Given the description of an element on the screen output the (x, y) to click on. 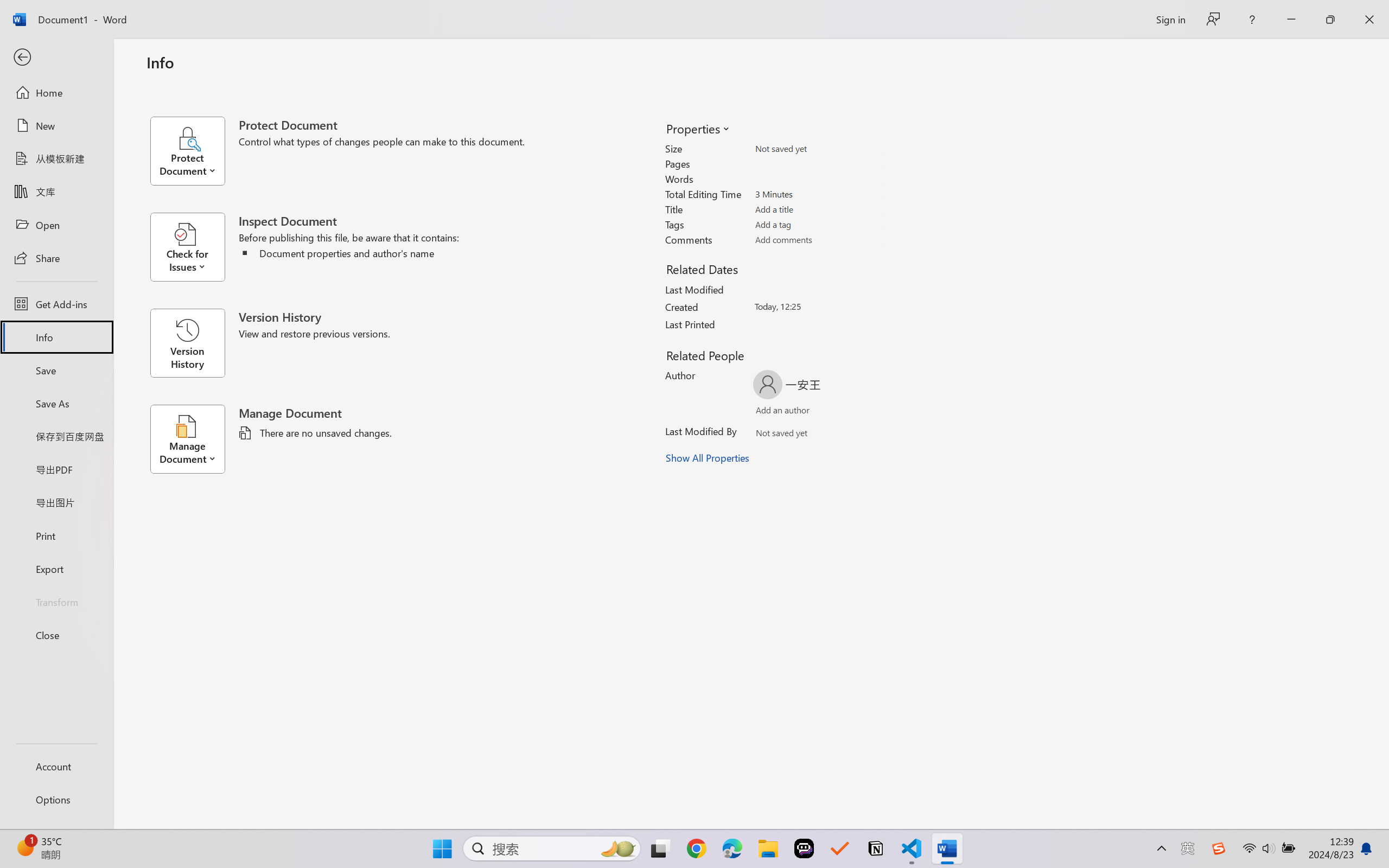
Browse Address Book (852, 435)
Words (818, 178)
Options (56, 798)
Total Editing Time (818, 193)
Get Add-ins (56, 303)
